Given the description of an element on the screen output the (x, y) to click on. 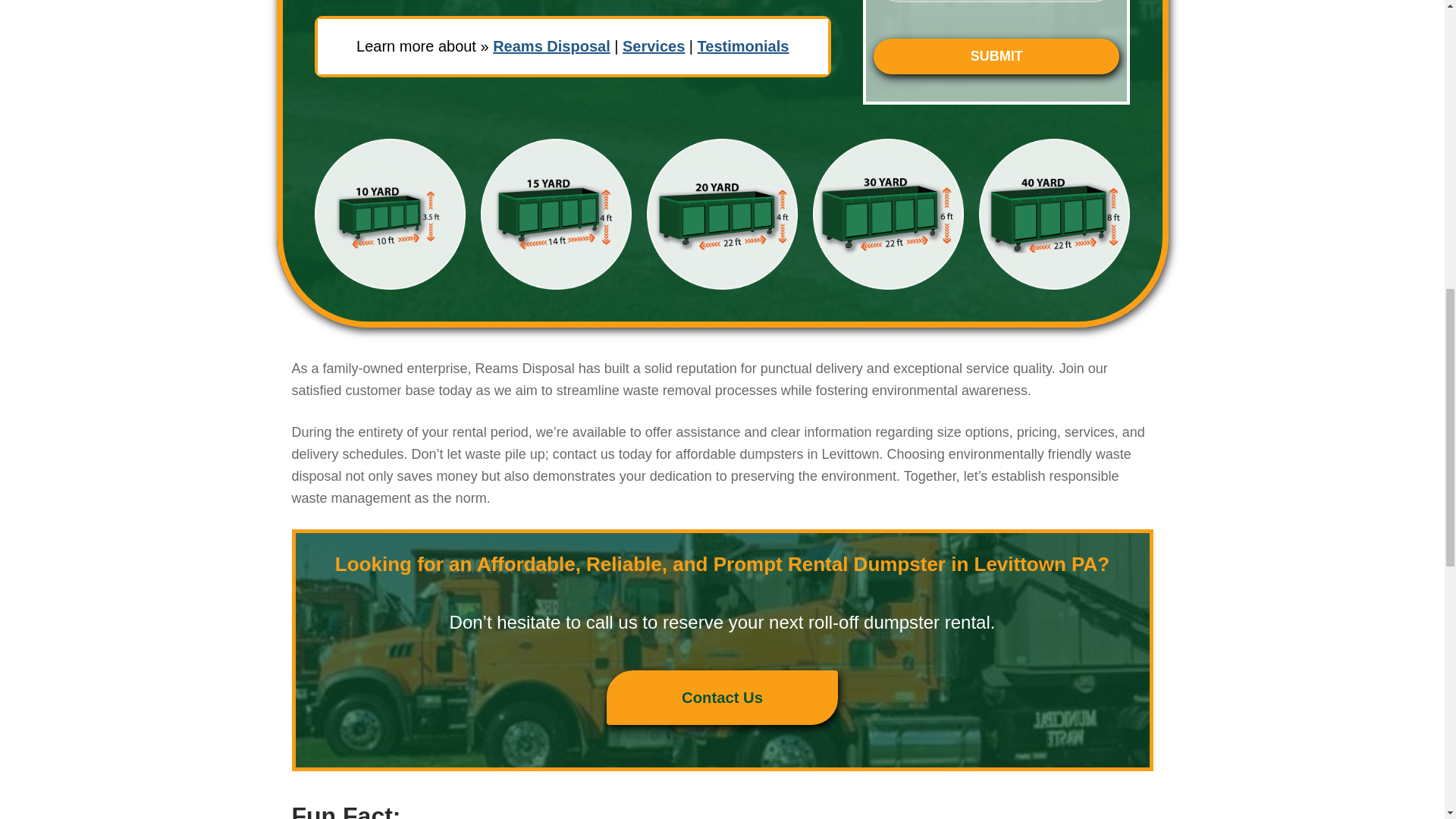
Submit (996, 56)
Contact Us (722, 697)
Submit (996, 56)
Reams Disposal (551, 45)
Services (653, 45)
Testimonials (743, 45)
